Given the description of an element on the screen output the (x, y) to click on. 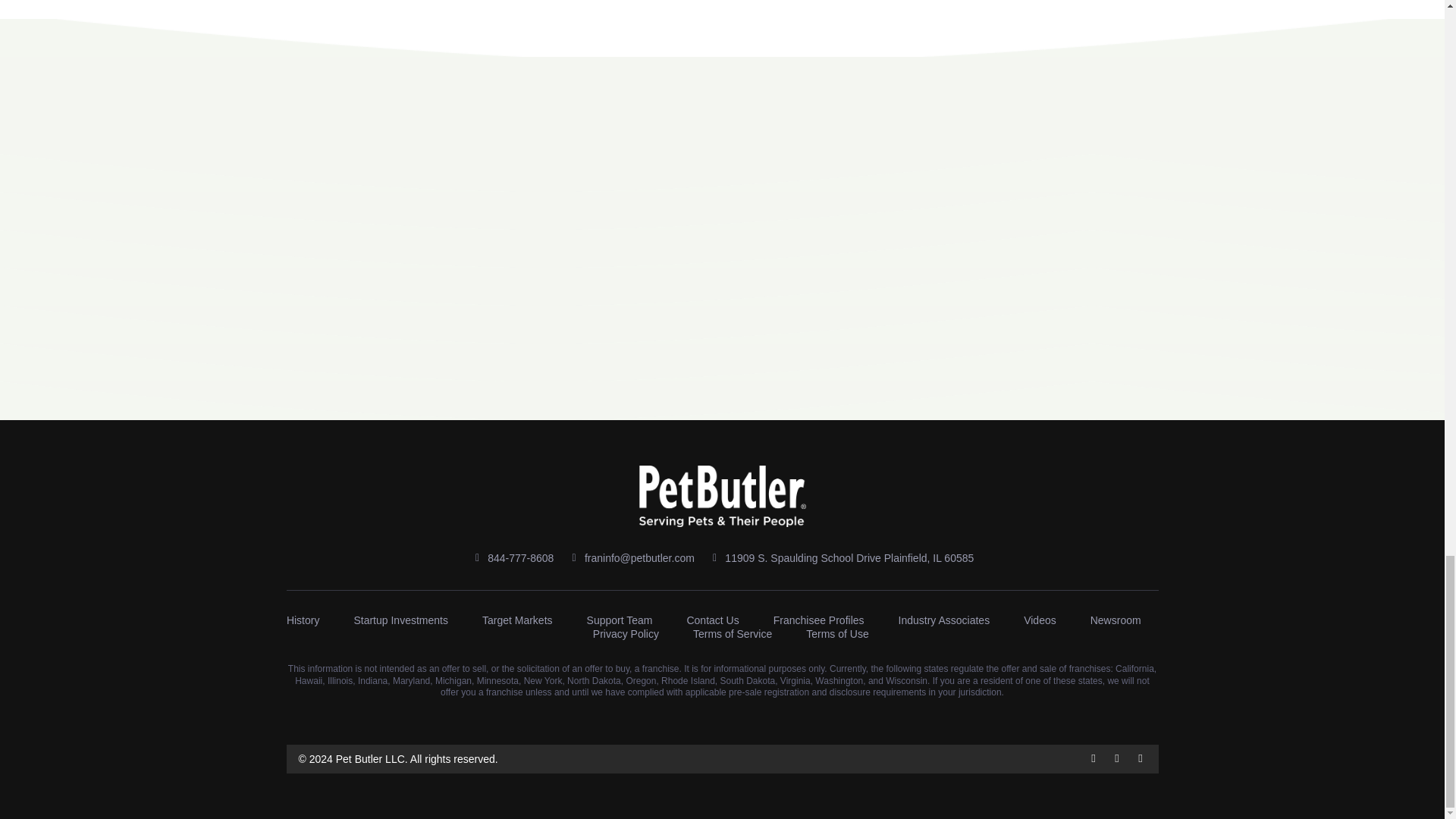
Industry Associates (944, 620)
Franchisee Profiles (818, 620)
Videos (1040, 620)
ongoing digital marketing (569, 51)
Startup Investments (400, 620)
Support Team (619, 620)
Contact Us (711, 620)
Pet Butler (395, 5)
Newsroom (1115, 620)
Target Markets (517, 620)
